Given the description of an element on the screen output the (x, y) to click on. 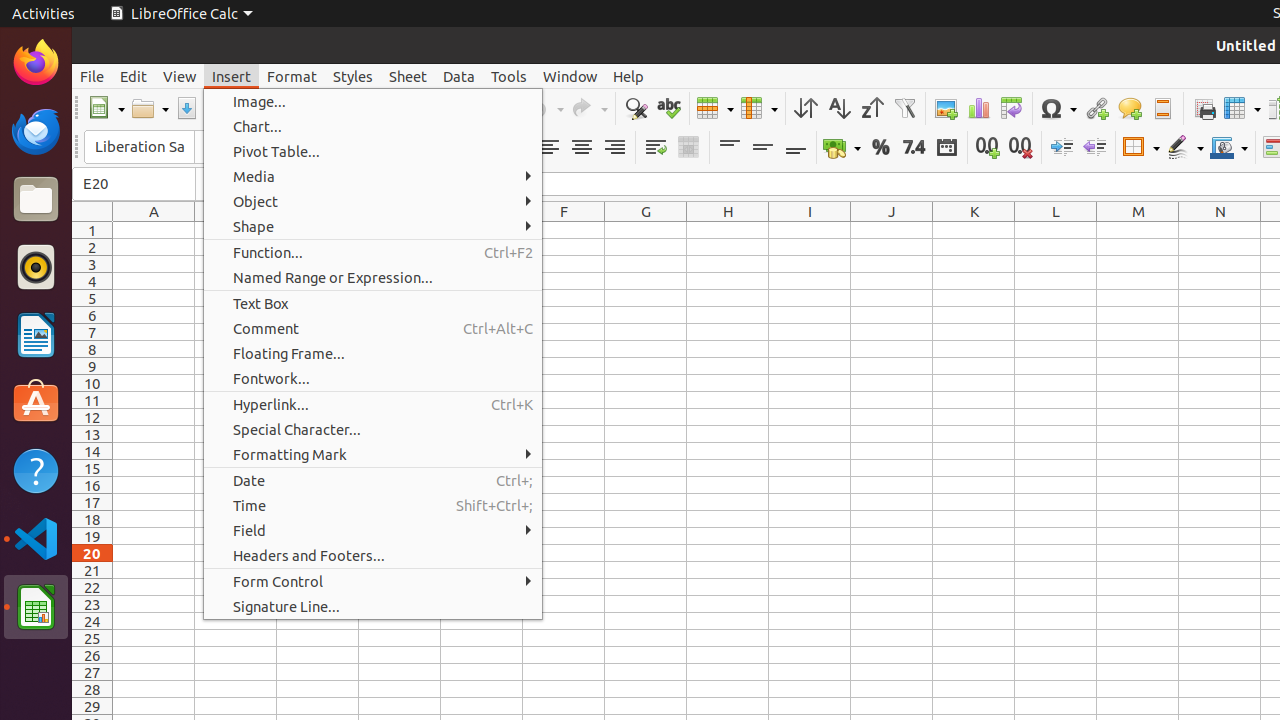
Data Element type: menu (459, 76)
Signature Line... Element type: menu-item (373, 606)
Date Element type: push-button (946, 147)
Align Center Element type: push-button (581, 147)
Comment Element type: menu-item (373, 328)
